Given the description of an element on the screen output the (x, y) to click on. 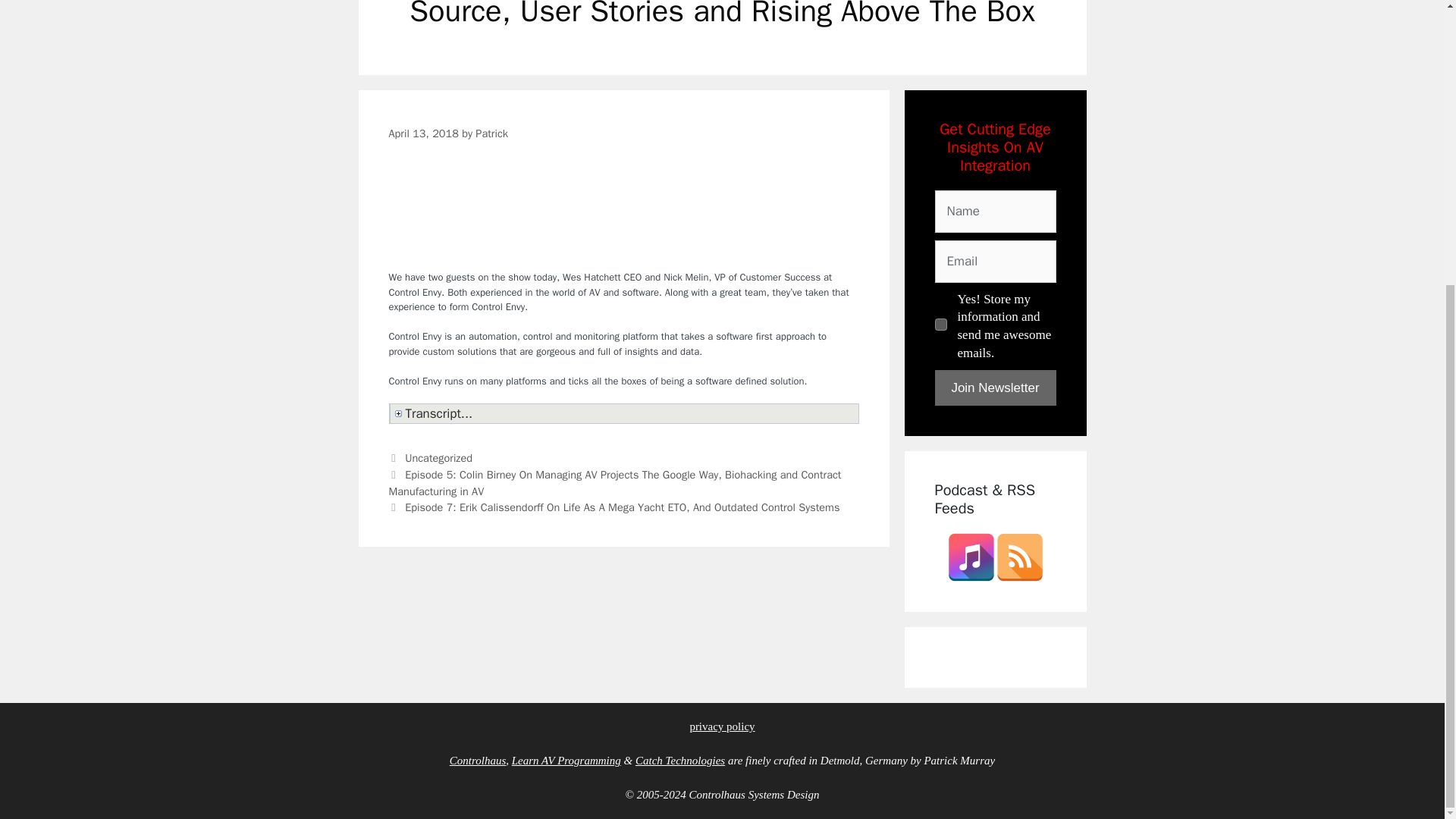
Join Newsletter (994, 388)
Next (614, 507)
Uncategorized (437, 458)
on (940, 324)
Apple Music (970, 557)
View all posts by Patrick (492, 133)
Learn AV Programming (566, 760)
Previous (614, 482)
